Given the description of an element on the screen output the (x, y) to click on. 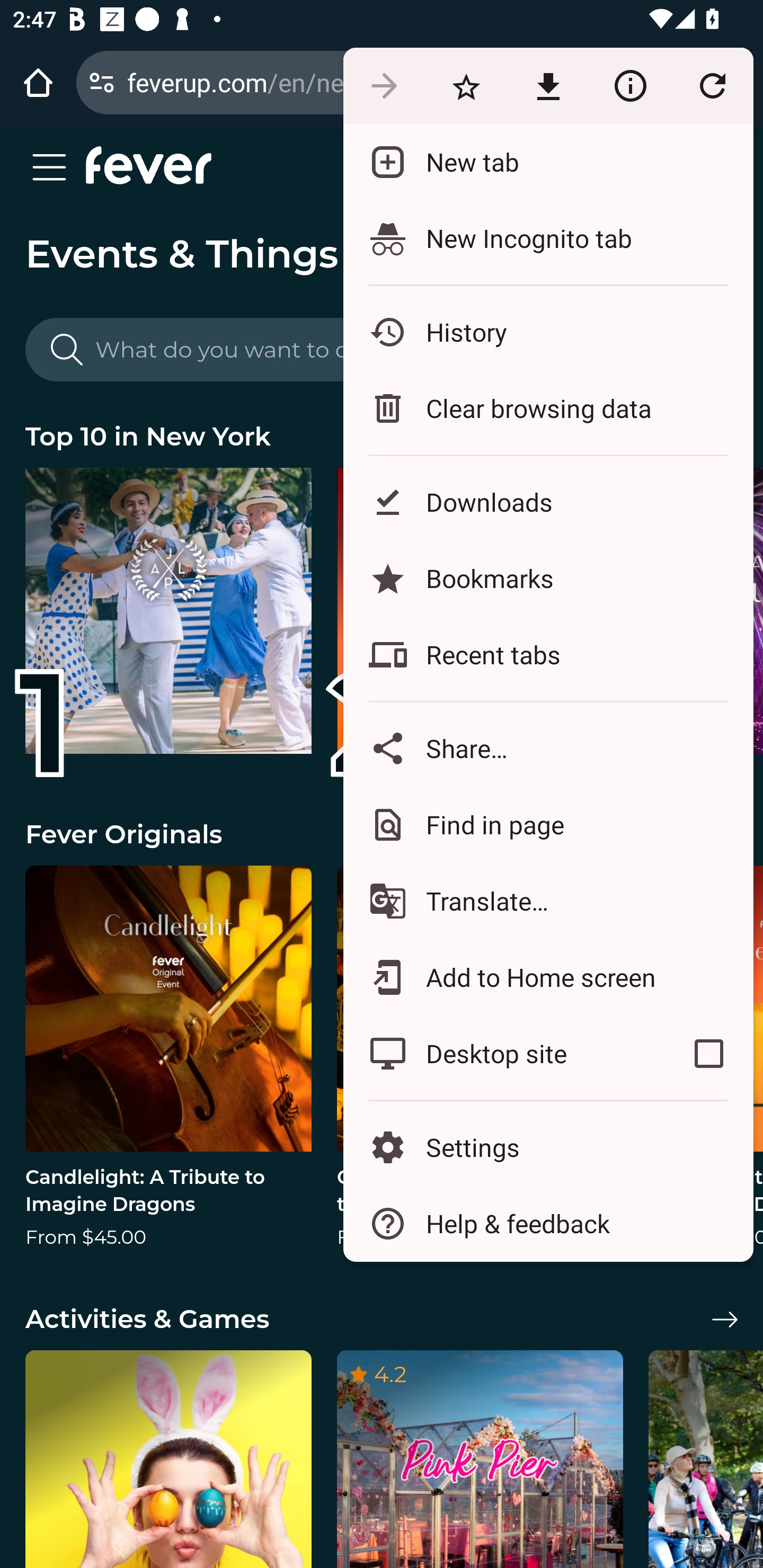
Forward (383, 85)
Bookmark (465, 85)
Download (548, 85)
Page info (630, 85)
Refresh (712, 85)
New tab (548, 161)
New Incognito tab (548, 237)
History (548, 332)
Clear browsing data (548, 408)
Downloads (548, 502)
Bookmarks (548, 578)
Recent tabs (548, 654)
Share… (548, 748)
Find in page (548, 824)
Translate… (548, 900)
Add to Home screen (548, 977)
Desktop site Turn on Request desktop site (503, 1053)
Settings (548, 1146)
Help & feedback (548, 1223)
